Given the description of an element on the screen output the (x, y) to click on. 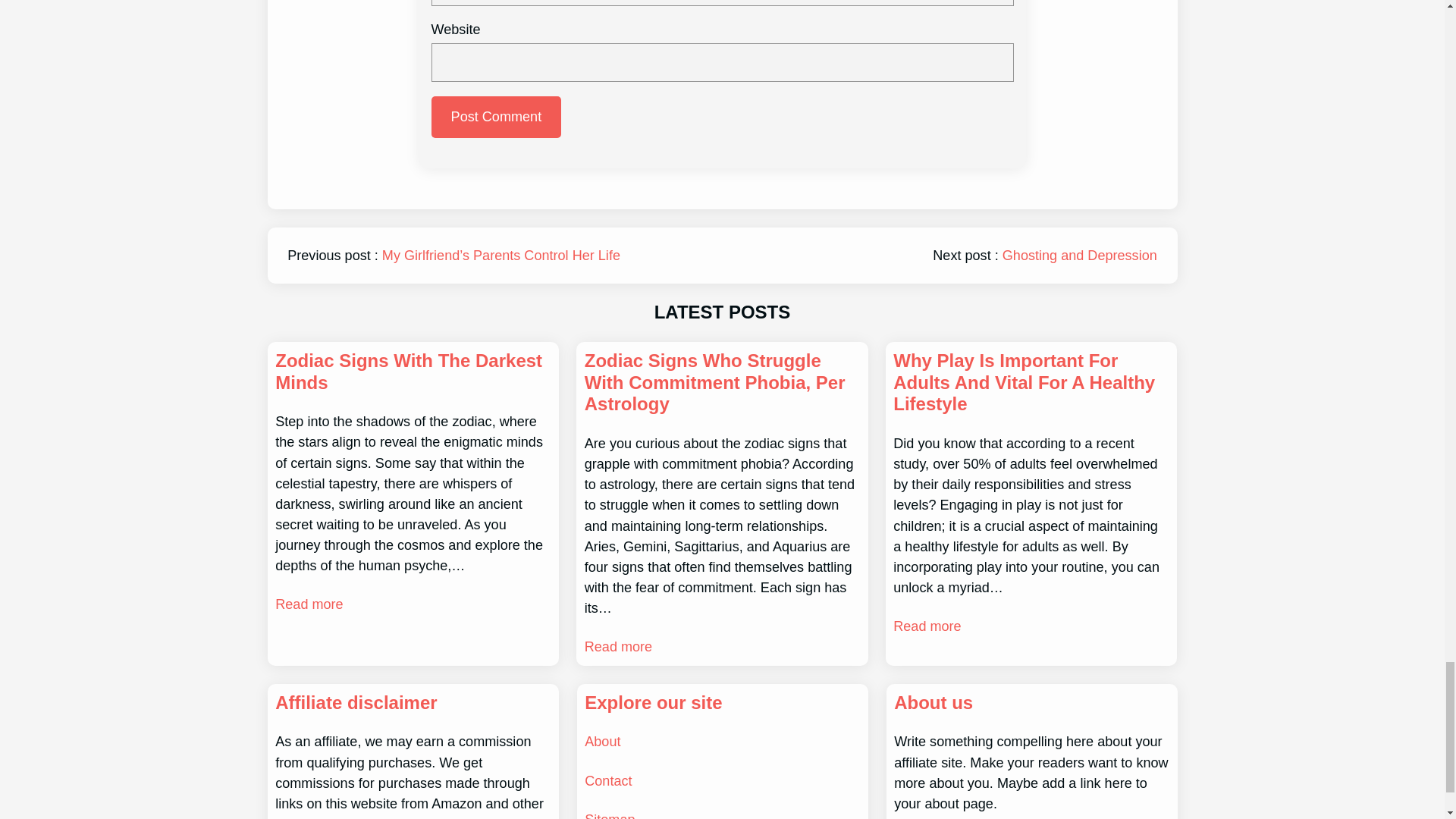
Sitemap (609, 815)
Ghosting and Depression (1080, 255)
Read more (618, 647)
Zodiac Signs With The Darkest Minds (412, 371)
Post Comment (495, 117)
Read more (308, 604)
Contact (608, 780)
About (602, 741)
